Given the description of an element on the screen output the (x, y) to click on. 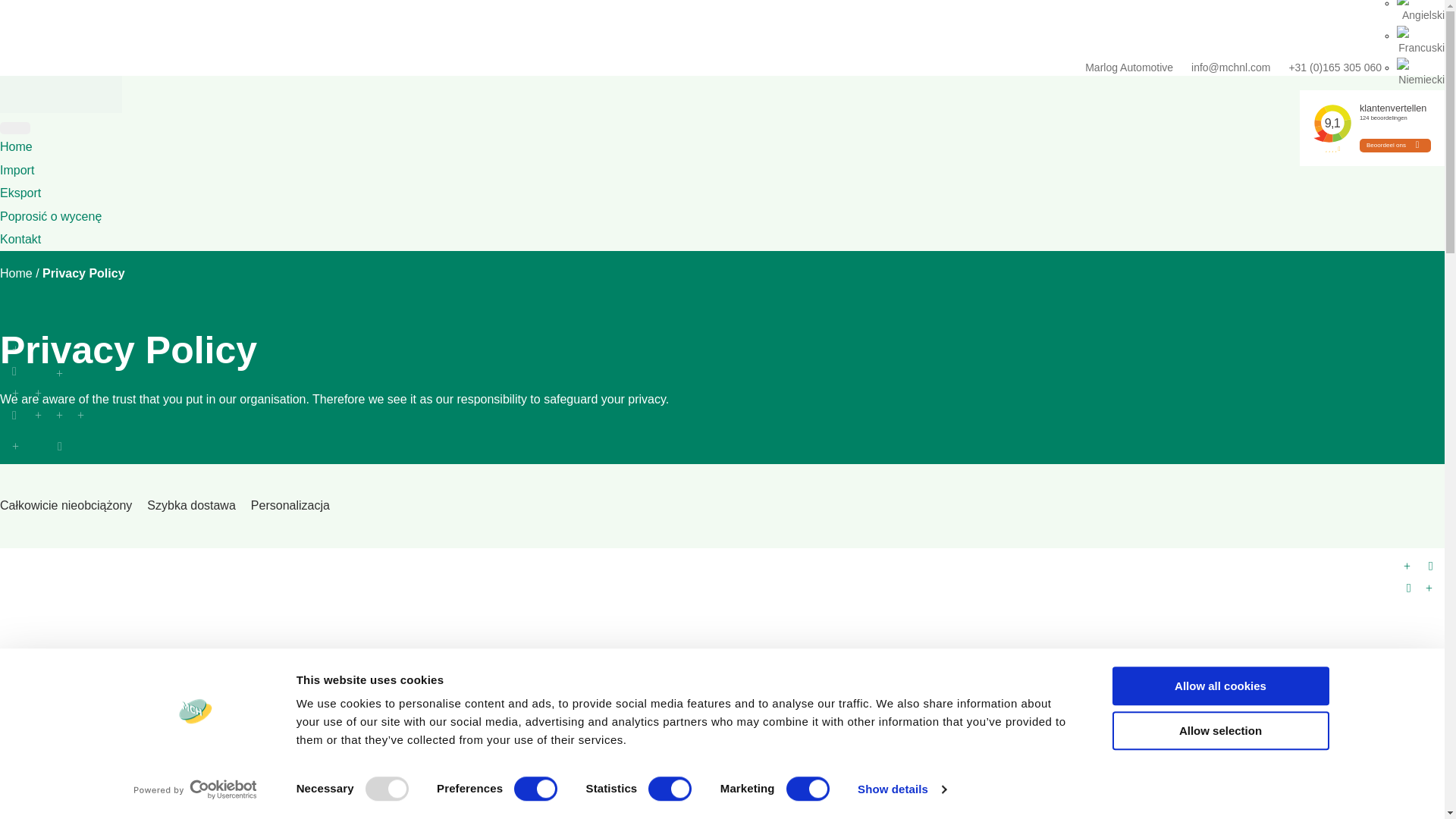
Marlog Automotive (1136, 67)
Show details (900, 789)
Allow selection (1219, 730)
Allow all cookies (1219, 685)
